Given the description of an element on the screen output the (x, y) to click on. 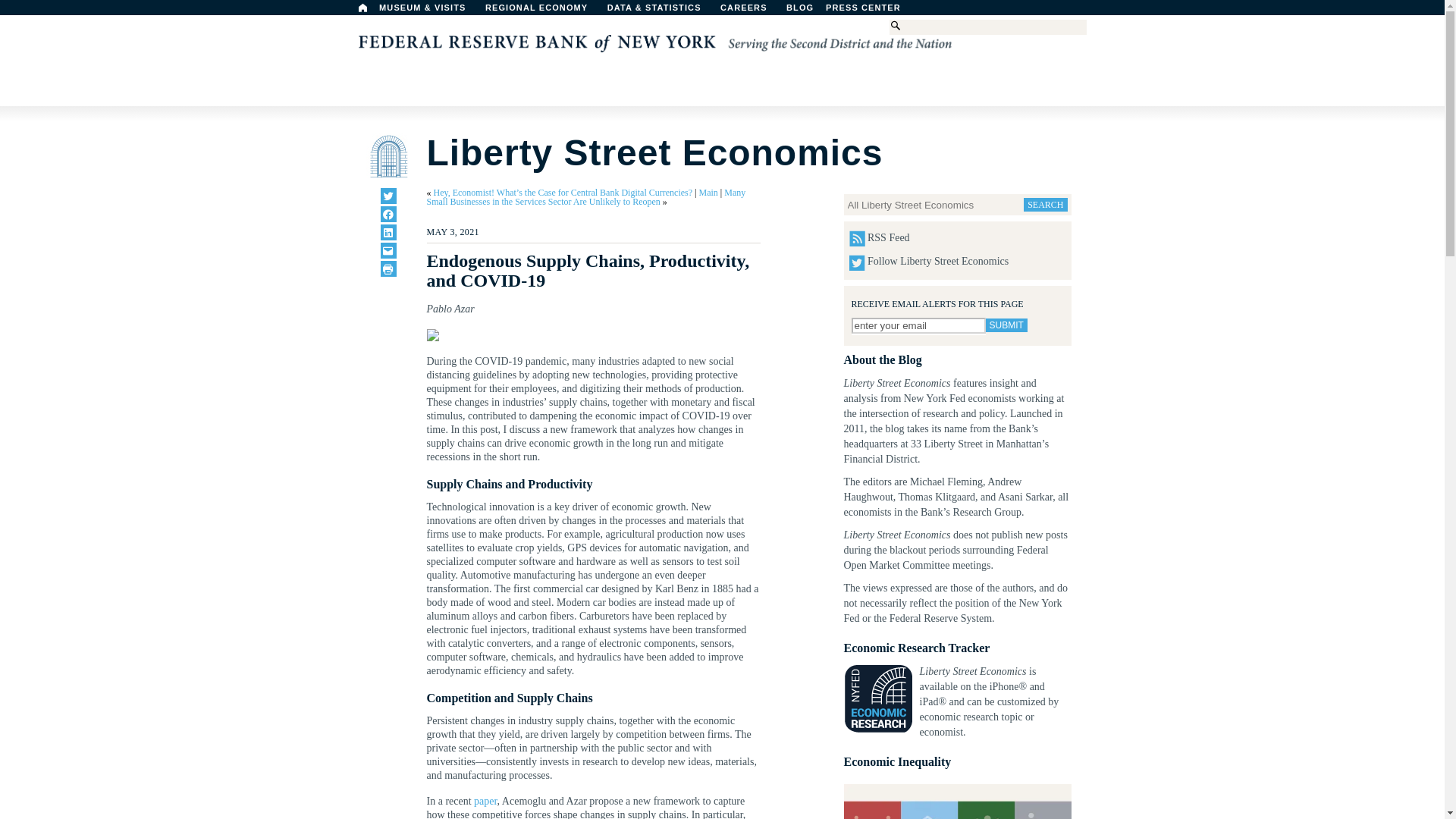
BLOG (839, 11)
CAREERS (751, 11)
Click to share on Twitter (388, 195)
Click to share on Facebook (388, 213)
PRESS CENTER (870, 11)
Submit (1006, 325)
Click to print (388, 268)
REGIONAL ECONOMY (543, 11)
Click to email a link to a friend (388, 250)
enter your email (917, 325)
